Given the description of an element on the screen output the (x, y) to click on. 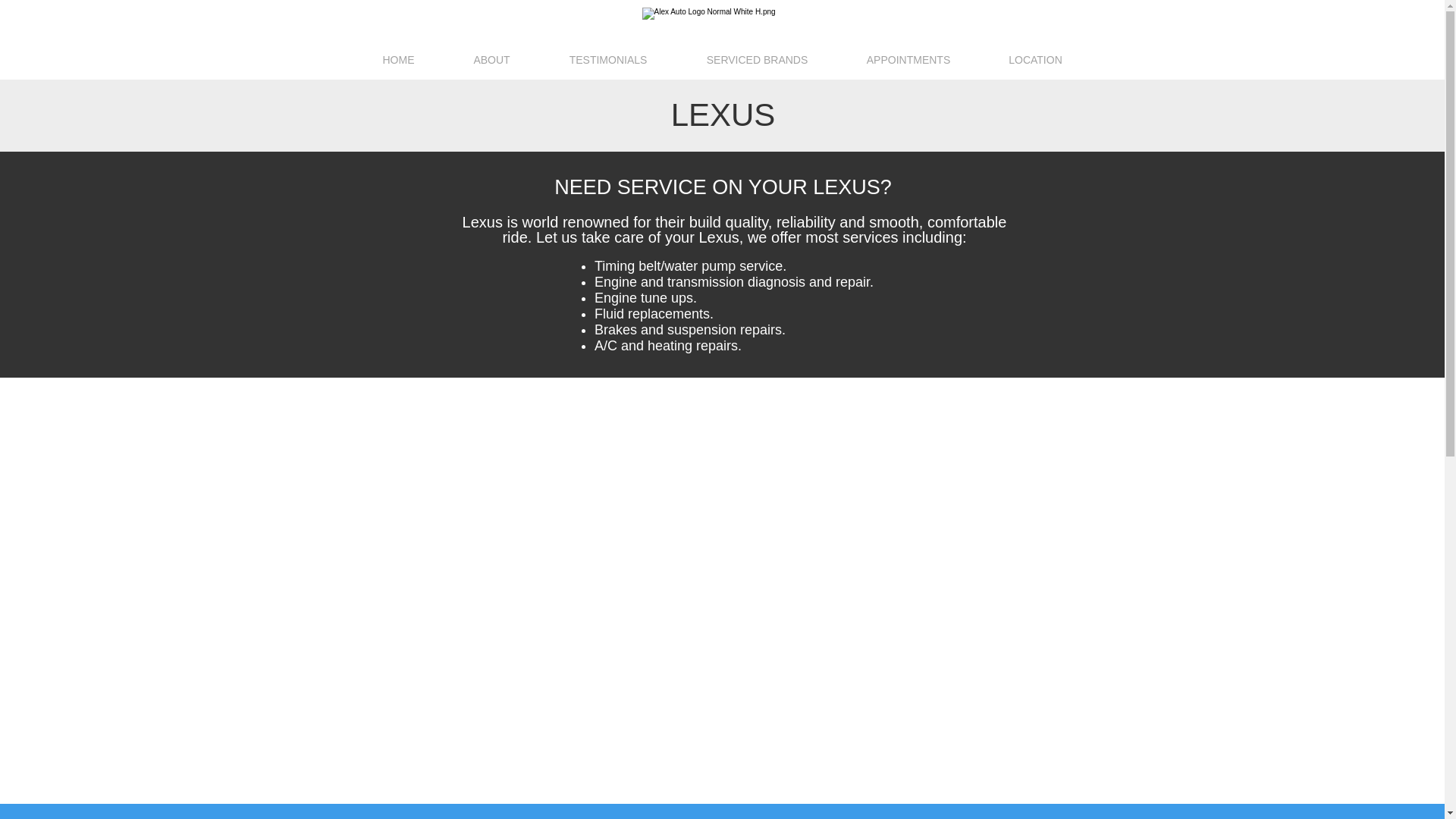
SERVICED BRANDS (757, 60)
TESTIMONIALS (608, 60)
APPOINTMENTS (907, 60)
ABOUT (492, 60)
LOCATION (1035, 60)
HOME (398, 60)
